Given the description of an element on the screen output the (x, y) to click on. 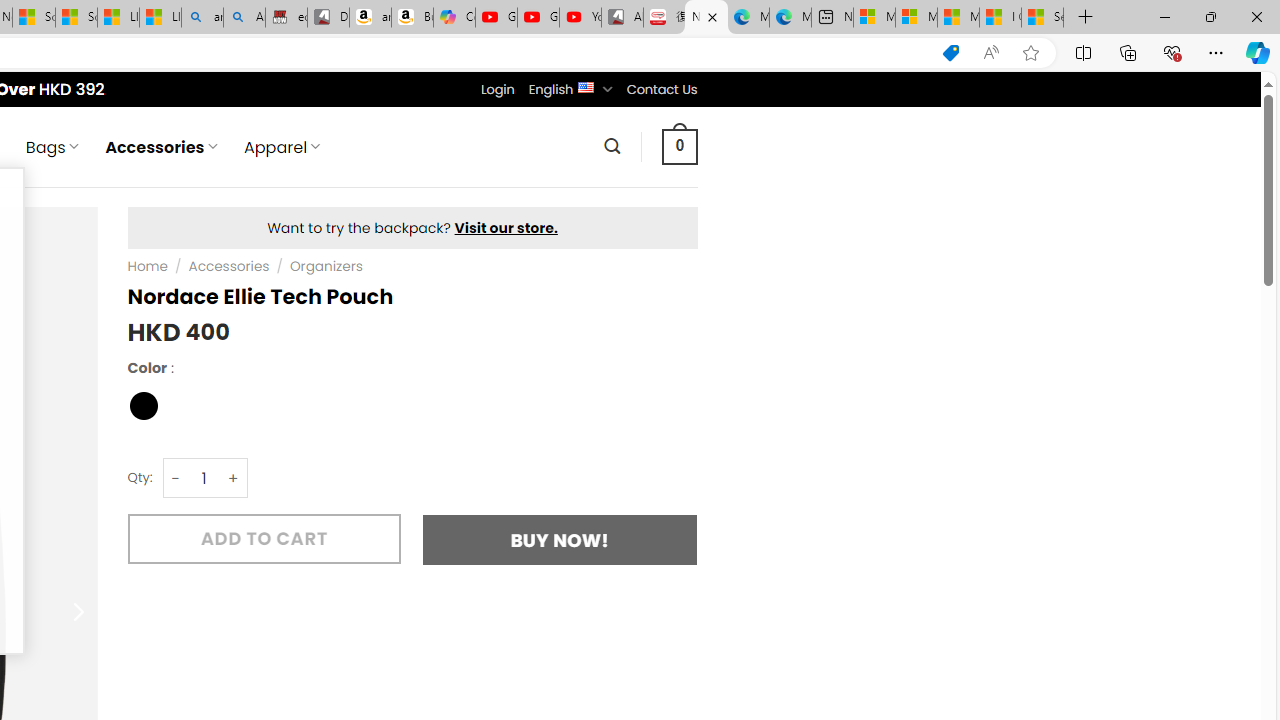
Nordace Ellie Tech Pouch (706, 17)
amazon - Search (201, 17)
Visit our store. (506, 228)
Collections (1128, 52)
Login (497, 89)
Copilot (Ctrl+Shift+.) (1258, 52)
- (175, 477)
Microsoft account | Privacy (916, 17)
Contact Us (661, 89)
